Given the description of an element on the screen output the (x, y) to click on. 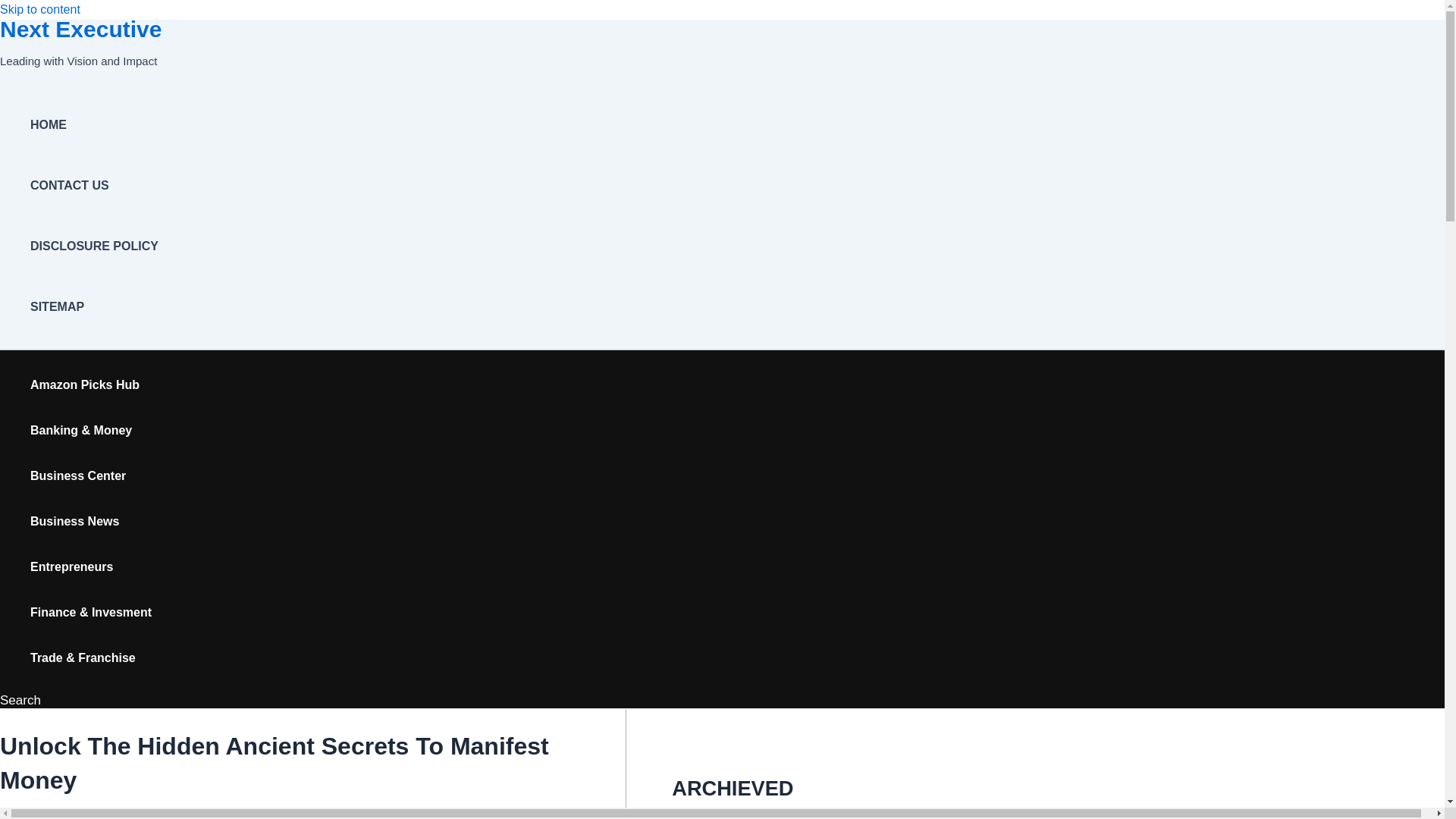
Entrepreneurs (90, 566)
Next Executive (80, 28)
Business News (90, 521)
Business Center (90, 475)
CONTACT US (94, 185)
Skip to content (40, 9)
SITEMAP (94, 306)
Search (20, 700)
View all posts by nangpooh (44, 812)
nangpooh (44, 812)
DISCLOSURE POLICY (94, 246)
HOME (94, 125)
Amazon Picks Hub (90, 384)
Skip to content (40, 9)
